Given the description of an element on the screen output the (x, y) to click on. 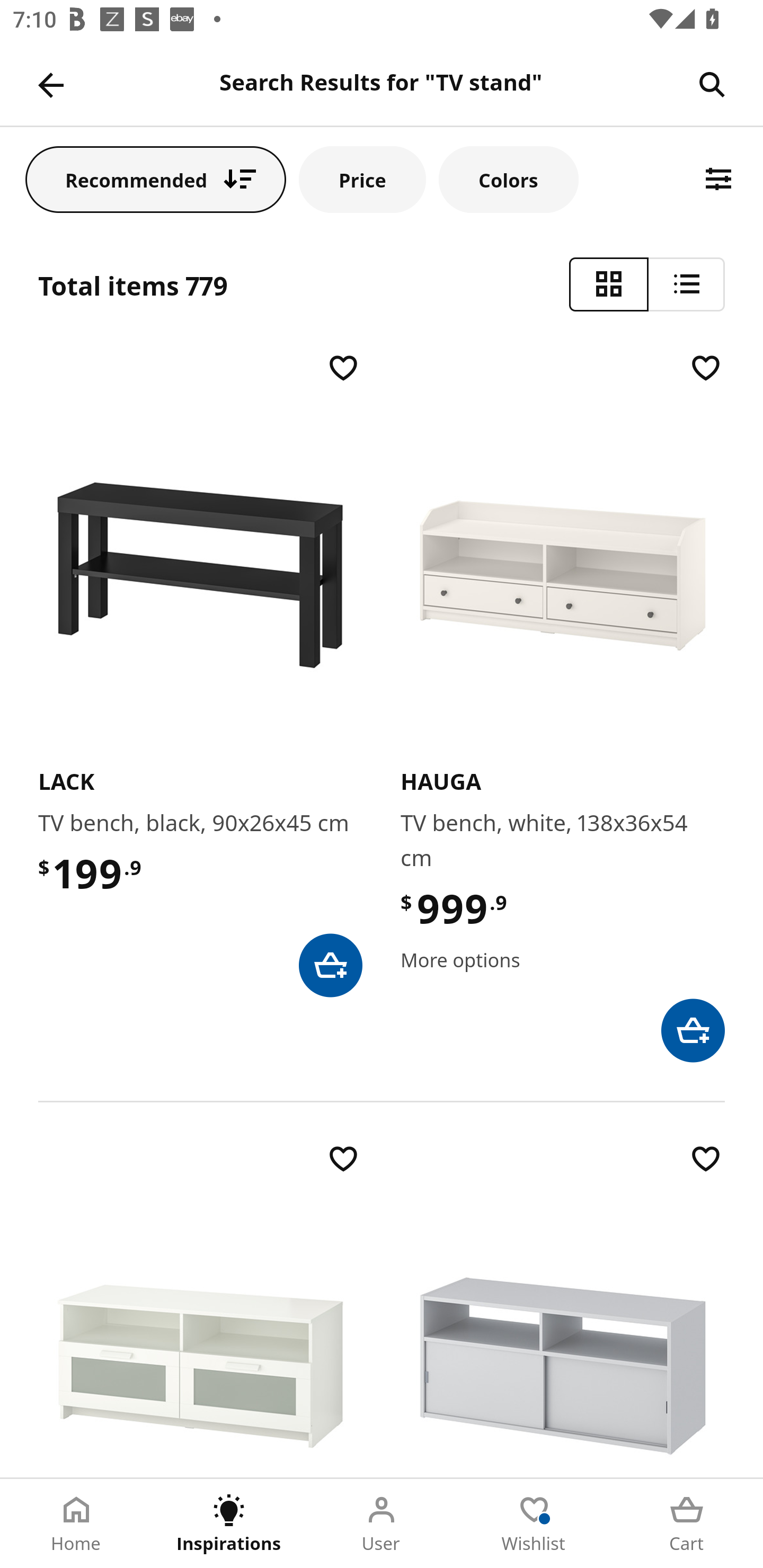
Recommended (155, 179)
Price (362, 179)
Colors (508, 179)
​L​A​C​K​
TV bench, black, 90x26x45 cm
$
199
.9 (200, 673)
Home
Tab 1 of 5 (76, 1522)
Inspirations
Tab 2 of 5 (228, 1522)
User
Tab 3 of 5 (381, 1522)
Wishlist
Tab 4 of 5 (533, 1522)
Cart
Tab 5 of 5 (686, 1522)
